Given the description of an element on the screen output the (x, y) to click on. 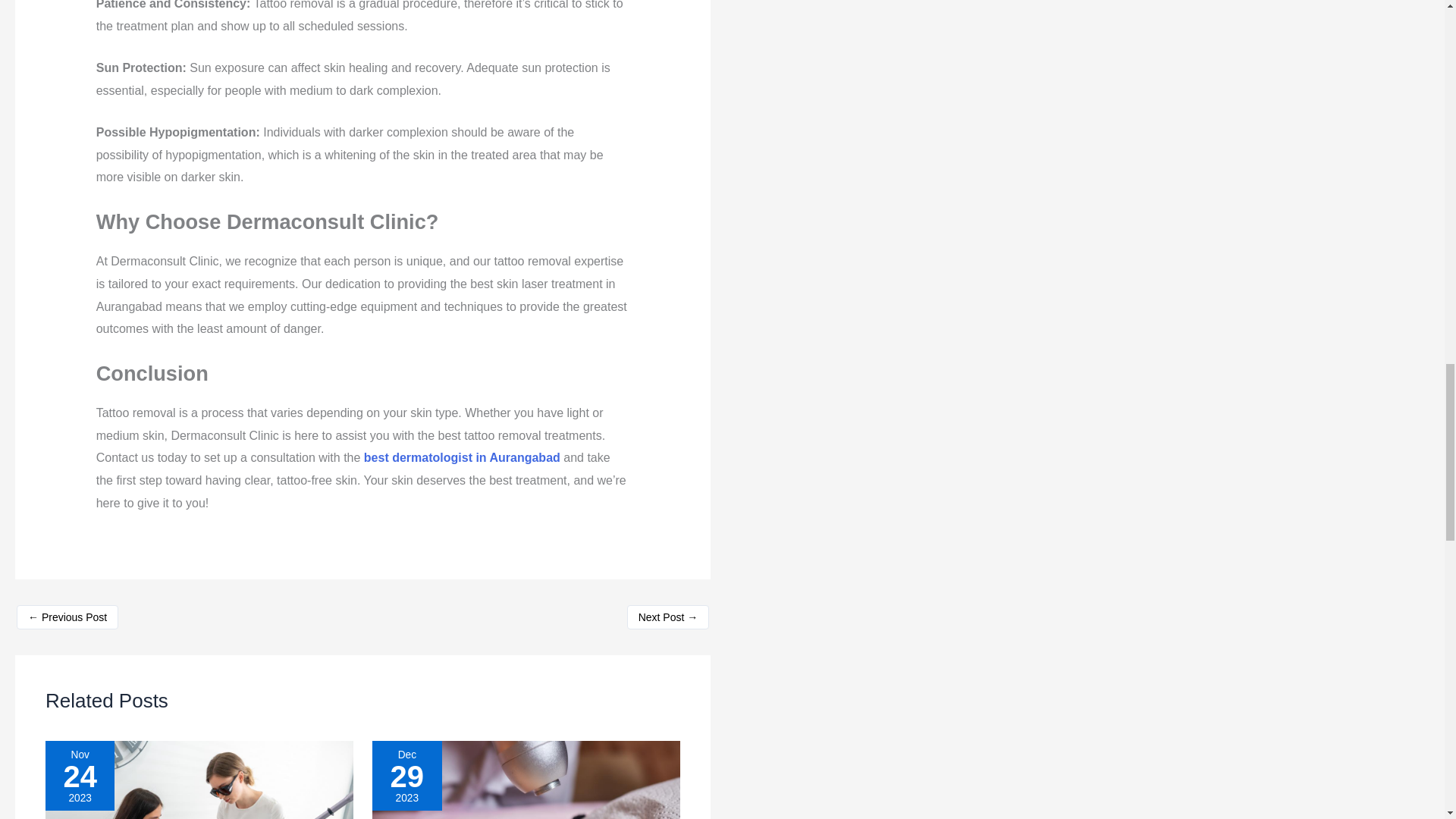
best dermatologist in Aurangabad (461, 457)
